Given the description of an element on the screen output the (x, y) to click on. 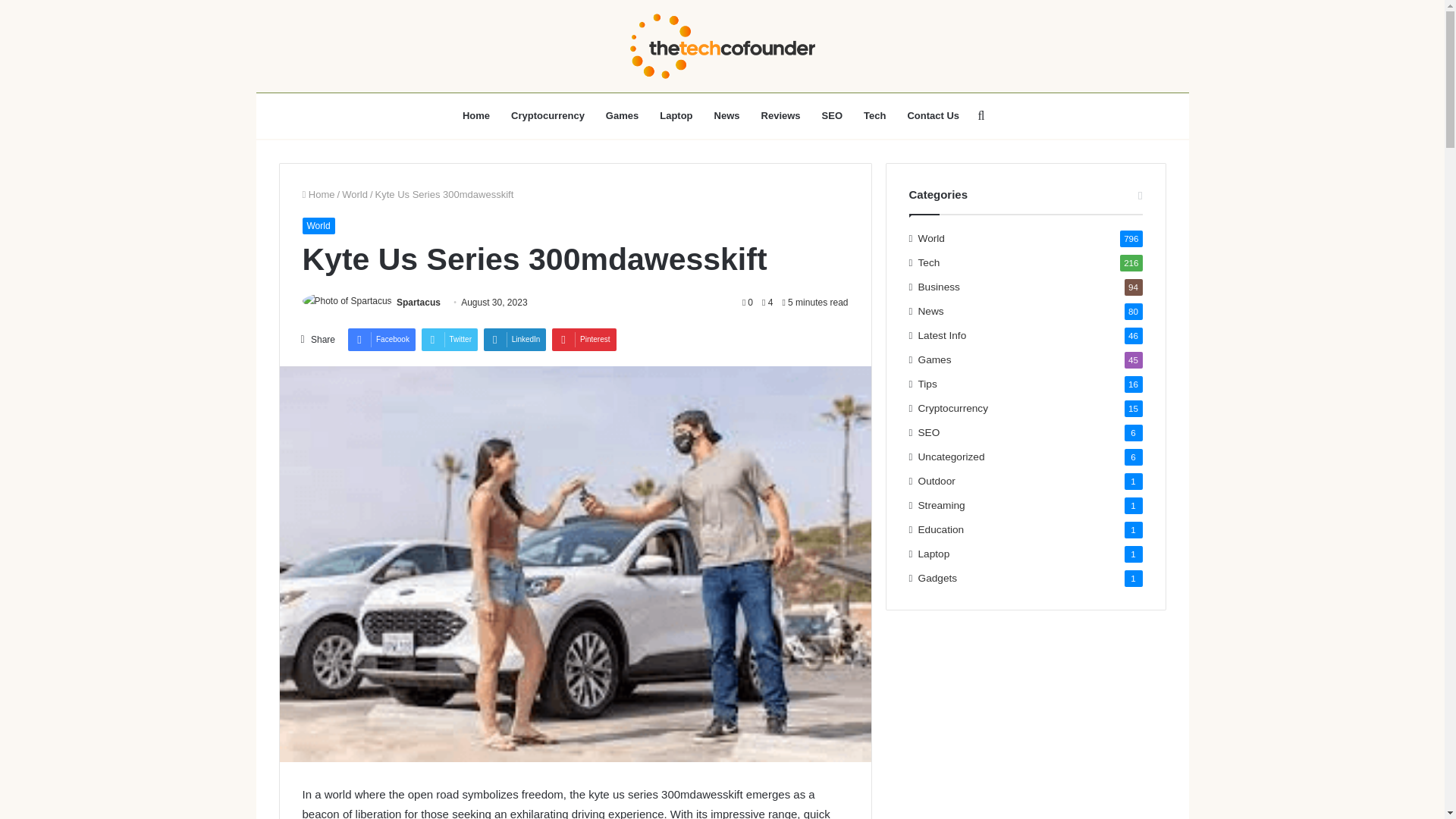
Home (317, 194)
Tech Cofounder (722, 46)
LinkedIn (515, 339)
Reviews (780, 115)
SEO (831, 115)
News (727, 115)
Facebook (380, 339)
Games (622, 115)
Twitter (449, 339)
LinkedIn (515, 339)
Spartacus (418, 302)
Facebook (380, 339)
Pinterest (583, 339)
Spartacus (418, 302)
Pinterest (583, 339)
